Given the description of an element on the screen output the (x, y) to click on. 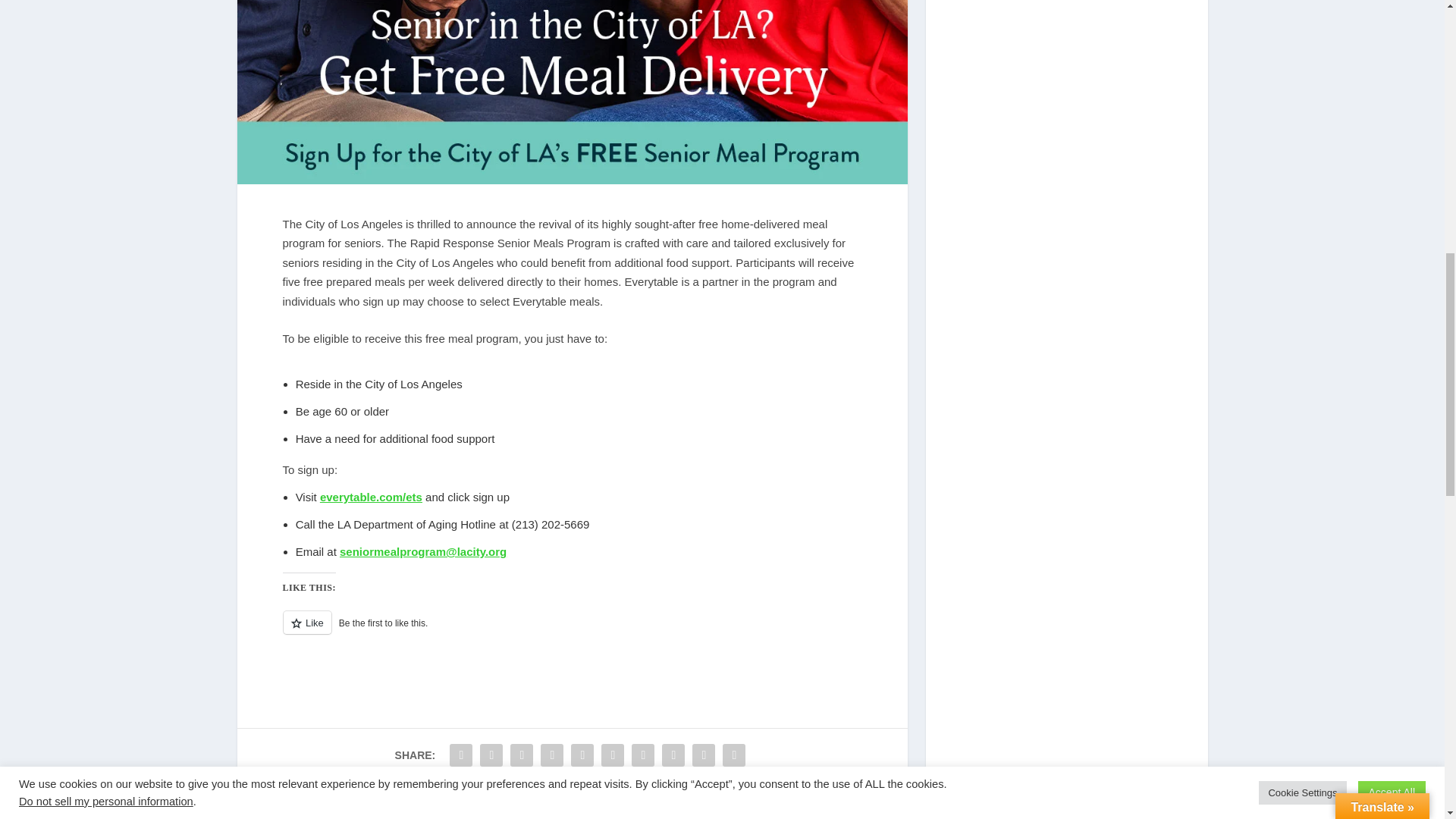
Like or Reblog (571, 630)
Everytable Free Home Delivered Meal Program (571, 92)
